Given the description of an element on the screen output the (x, y) to click on. 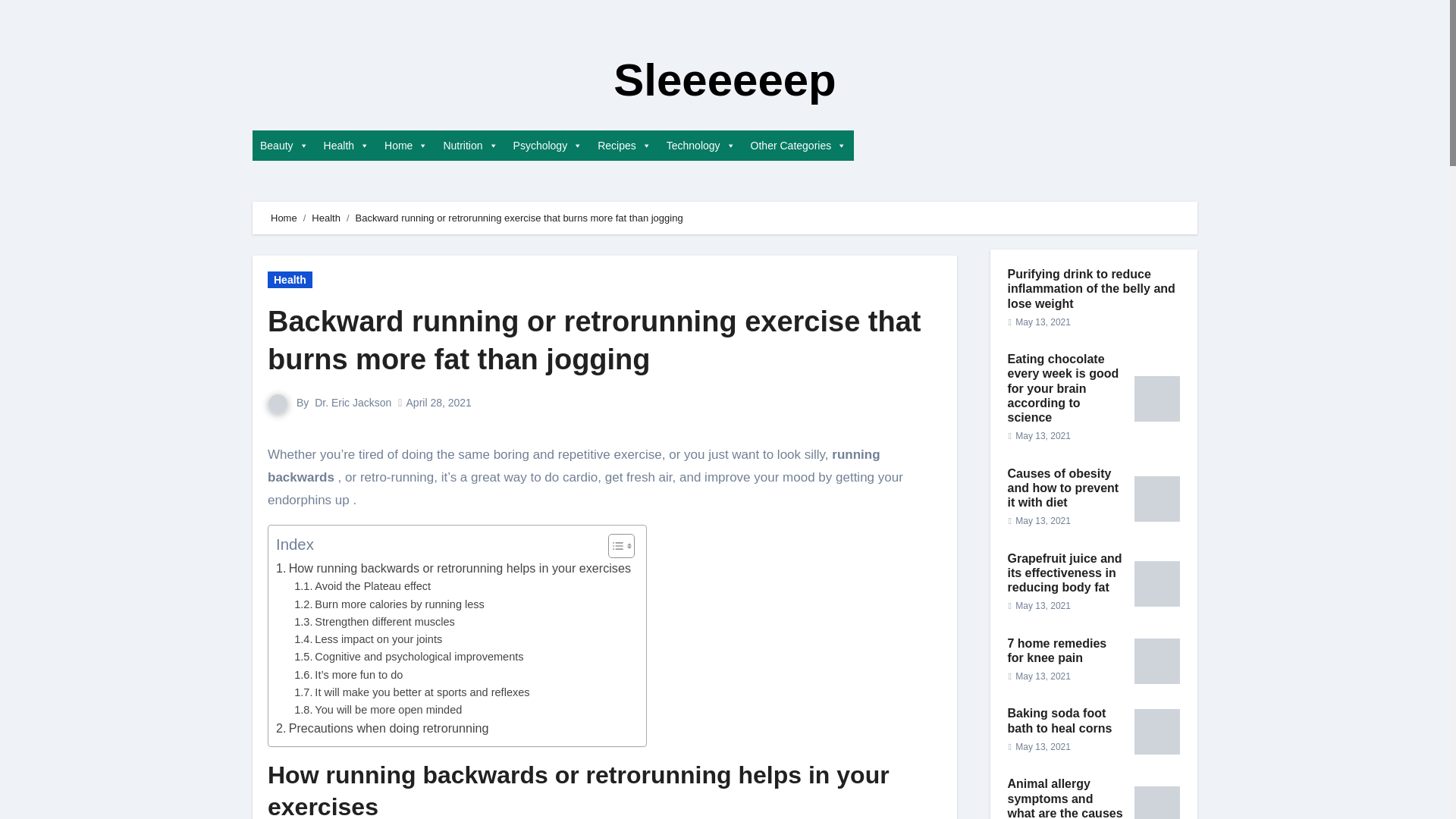
Less impact on your joints (368, 639)
It will make you better at sports and reflexes (411, 692)
Strengthen different muscles (374, 621)
Cognitive and psychological improvements (408, 656)
Health (346, 145)
Avoid the Plateau effect (362, 586)
Nutrition (470, 145)
Beauty (283, 145)
Sleeeeeep (723, 79)
You will be more open minded (377, 710)
Precautions when doing retrorunning (382, 728)
Burn more calories by running less (389, 604)
Home (406, 145)
